Given the description of an element on the screen output the (x, y) to click on. 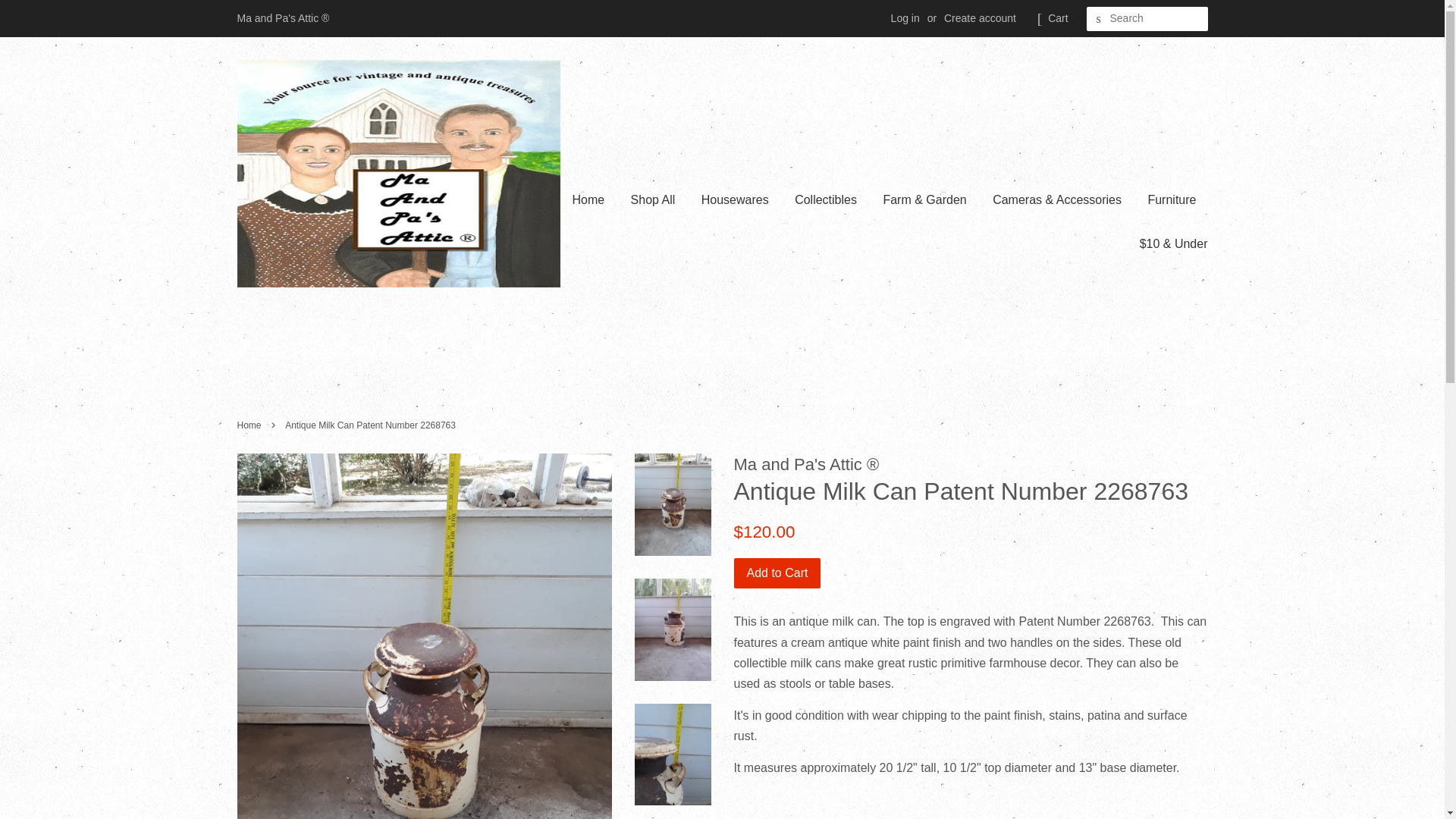
Log in (905, 18)
Home (593, 199)
Search (1097, 18)
Shop All (653, 199)
Collectibles (825, 199)
Back to the frontpage (249, 425)
Furniture (1171, 199)
Home (249, 425)
Add to Cart (777, 572)
Create account (979, 18)
Housewares (735, 199)
Cart (1057, 18)
